Given the description of an element on the screen output the (x, y) to click on. 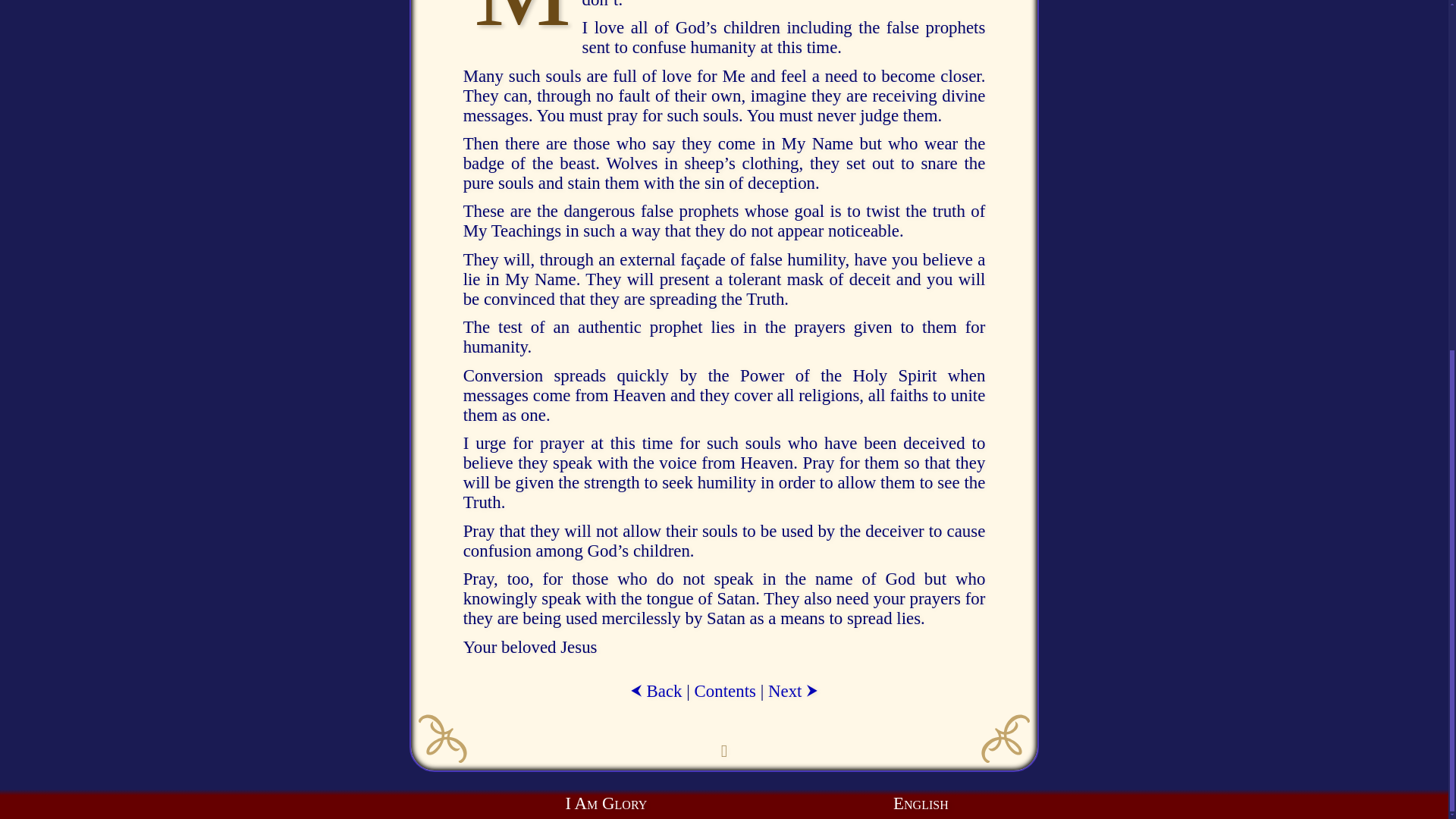
Contents (724, 690)
